Given the description of an element on the screen output the (x, y) to click on. 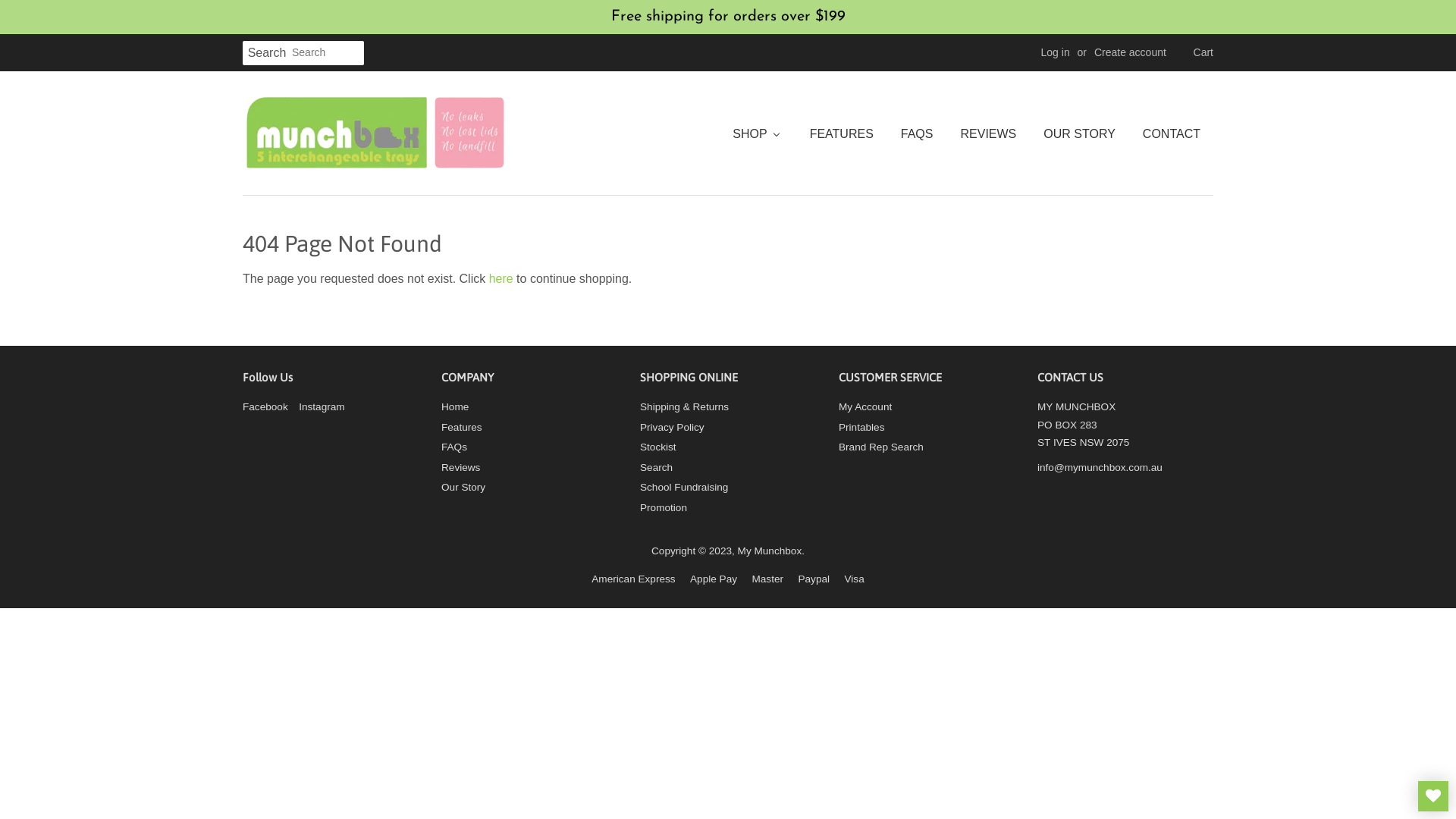
Create account Element type: text (1130, 52)
Privacy Policy Element type: text (672, 427)
School Fundraising Element type: text (684, 486)
Shipping & Returns Element type: text (684, 406)
OUR STORY Element type: text (1078, 133)
Stockist Element type: text (658, 446)
Facebook Element type: text (265, 406)
Printables Element type: text (861, 427)
FAQs Element type: text (454, 446)
REVIEWS Element type: text (987, 133)
here Element type: text (501, 278)
Features Element type: text (461, 427)
Log in Element type: text (1055, 52)
Instagram Element type: text (321, 406)
Reviews Element type: text (460, 467)
Search Element type: text (656, 467)
MY WISHLIST Element type: text (1433, 796)
Cart Element type: text (1203, 52)
SHOP Element type: text (761, 133)
Brand Rep Search Element type: text (880, 446)
My Munchbox Element type: text (769, 550)
CONTACT Element type: text (1170, 133)
Our Story Element type: text (463, 486)
Search Element type: text (266, 52)
My Account Element type: text (864, 406)
Promotion Element type: text (663, 507)
FEATURES Element type: text (840, 133)
Home Element type: text (454, 406)
FAQS Element type: text (916, 133)
